Given the description of an element on the screen output the (x, y) to click on. 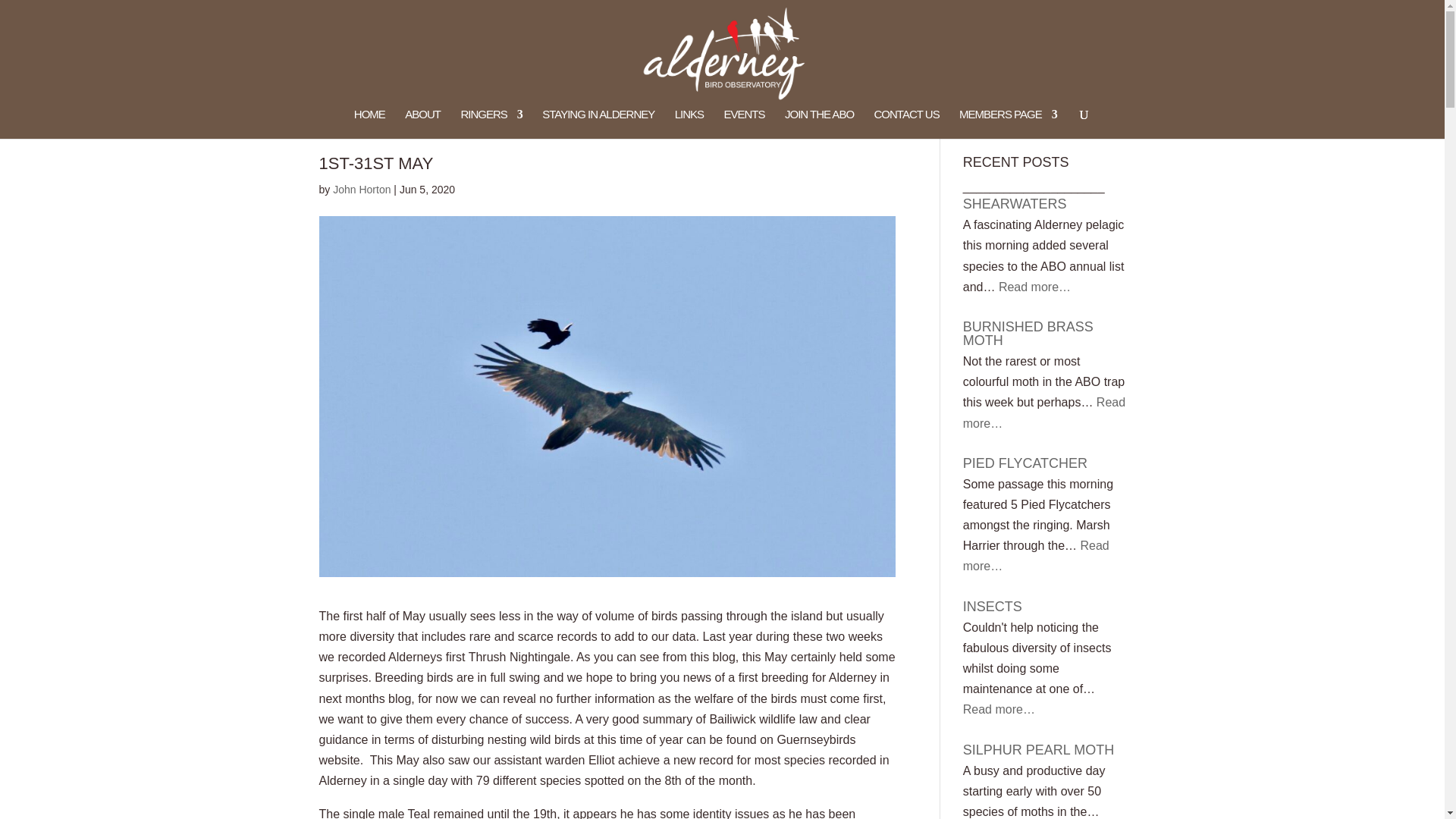
SHEARWATERS (1014, 203)
RINGERS (490, 123)
MEMBERS PAGE (1008, 123)
ABOUT (422, 123)
John Horton (361, 189)
EVENTS (743, 123)
BURNISHED BRASS MOTH (1027, 333)
HOME (369, 123)
JOIN THE ABO (818, 123)
Posts by John Horton (361, 189)
